Given the description of an element on the screen output the (x, y) to click on. 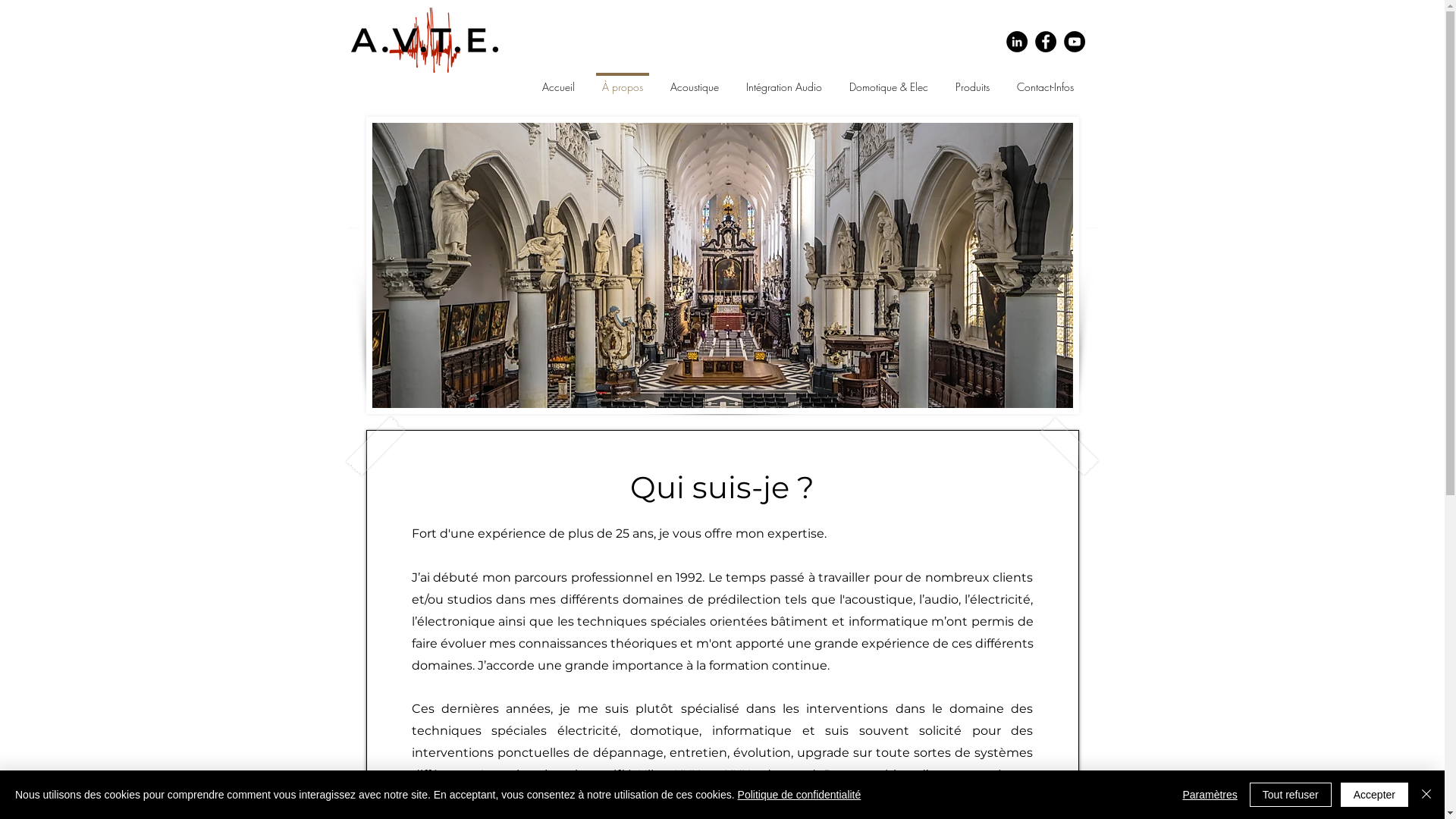
Tout refuser Element type: text (1290, 794)
Eglie Sant-Paul Anvers - Audo AV.T.E. Element type: hover (721, 265)
Contact-Infos Element type: text (1044, 79)
Domotique & Elec Element type: text (888, 79)
Accueil Element type: text (557, 79)
Produits Element type: text (972, 79)
Acoustique Element type: text (694, 79)
Accepter Element type: text (1374, 794)
